Given the description of an element on the screen output the (x, y) to click on. 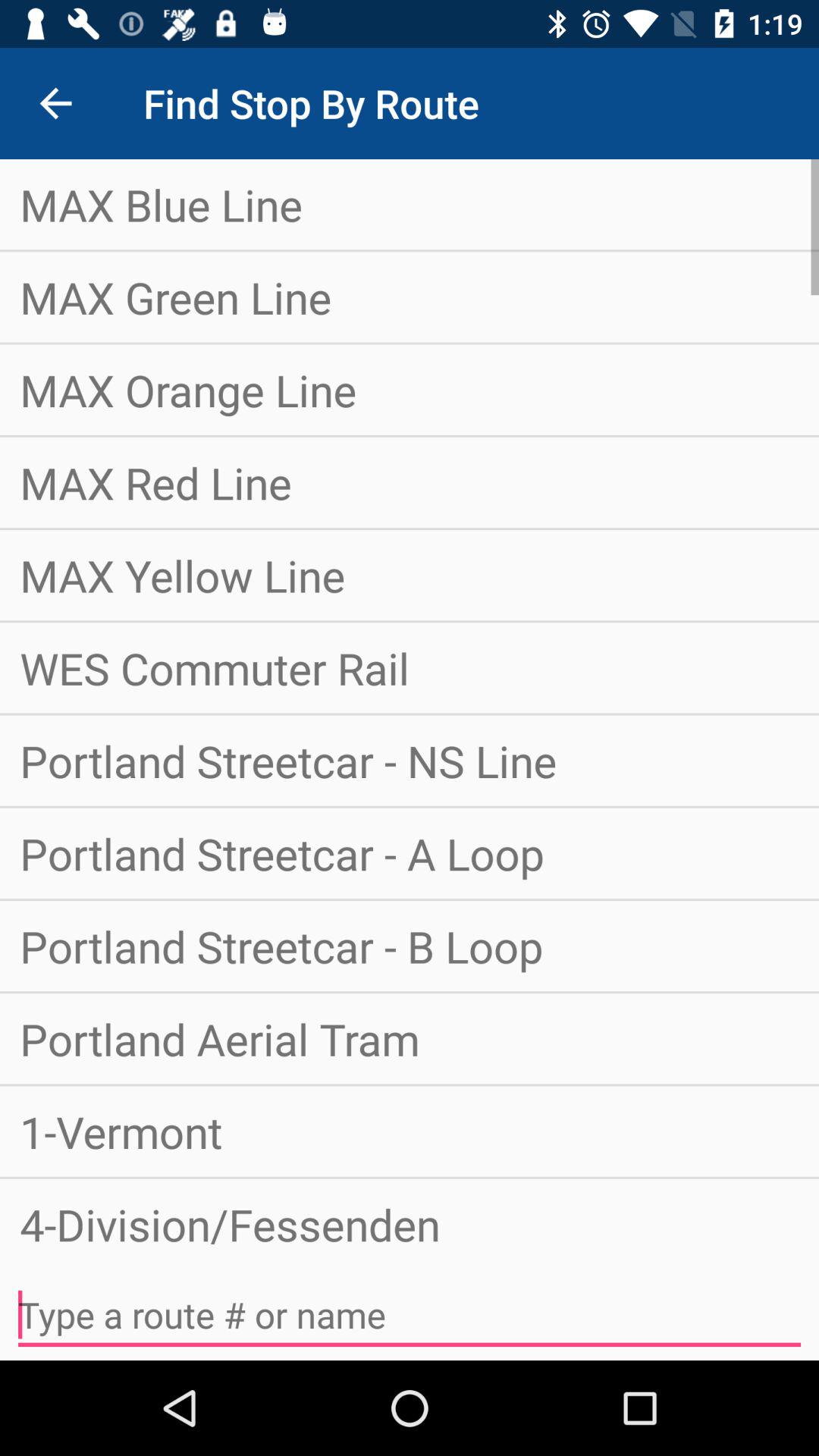
select item below max yellow line item (409, 667)
